Given the description of an element on the screen output the (x, y) to click on. 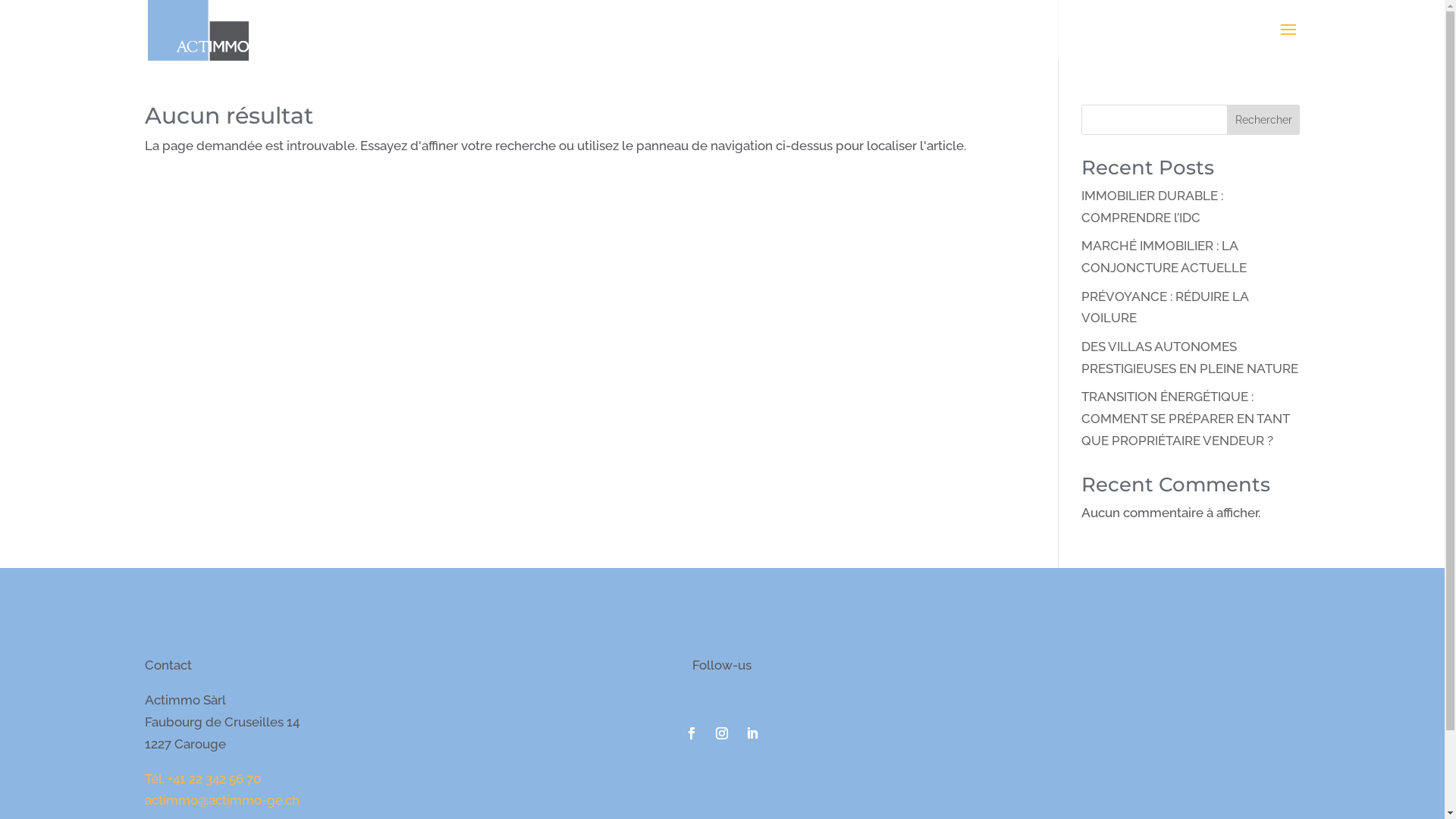
Suivez sur LinkedIn Element type: hover (752, 733)
Suivez sur Instagram Element type: hover (721, 733)
Suivez sur Facebook Element type: hover (691, 733)
Rechercher Element type: text (1263, 119)
actimmo@actimmo-ge.ch Element type: text (221, 799)
DES VILLAS AUTONOMES PRESTIGIEUSES EN PLEINE NATURE Element type: text (1189, 357)
